Given the description of an element on the screen output the (x, y) to click on. 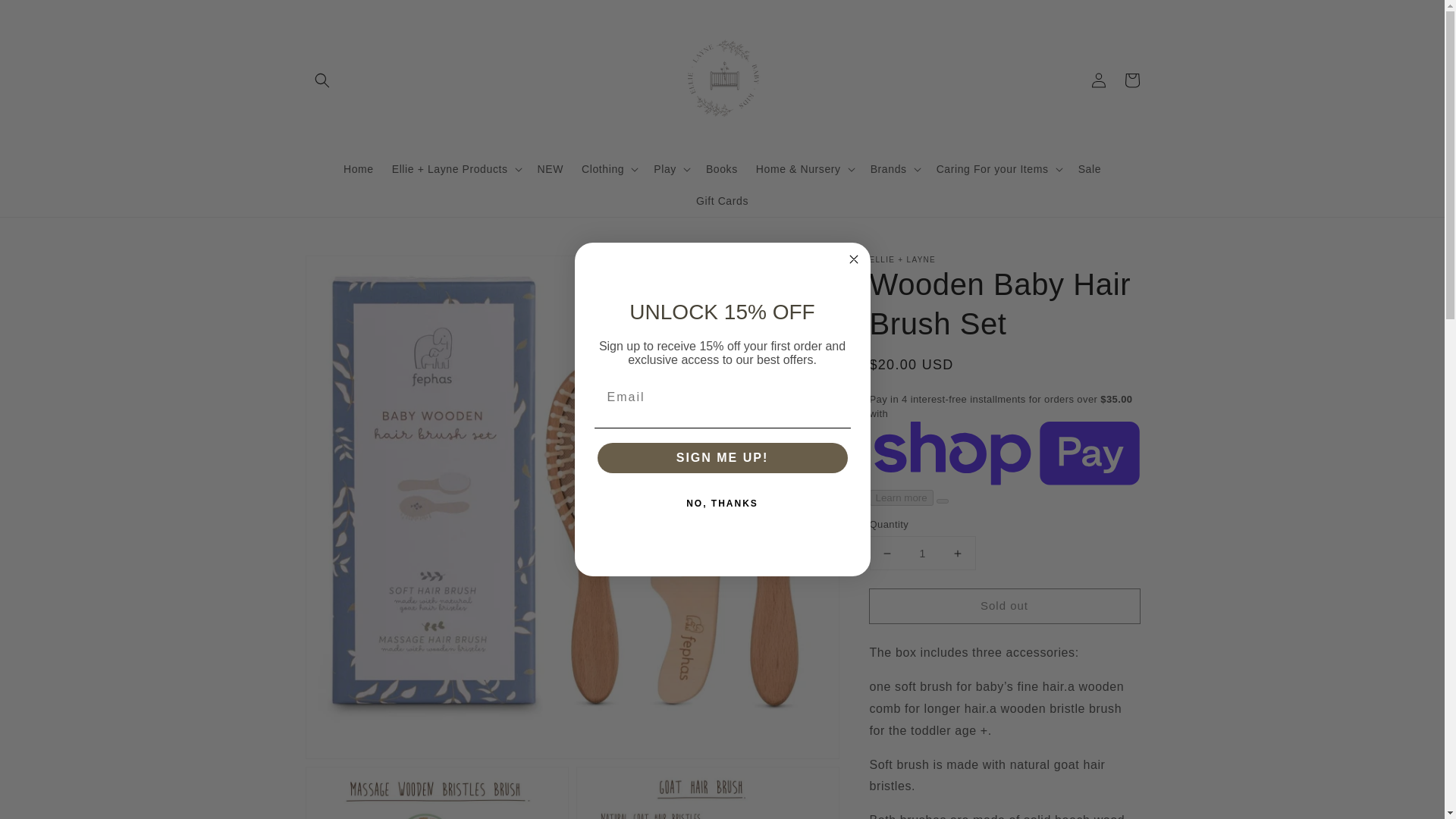
1 (922, 553)
Skip to content (45, 16)
